Given the description of an element on the screen output the (x, y) to click on. 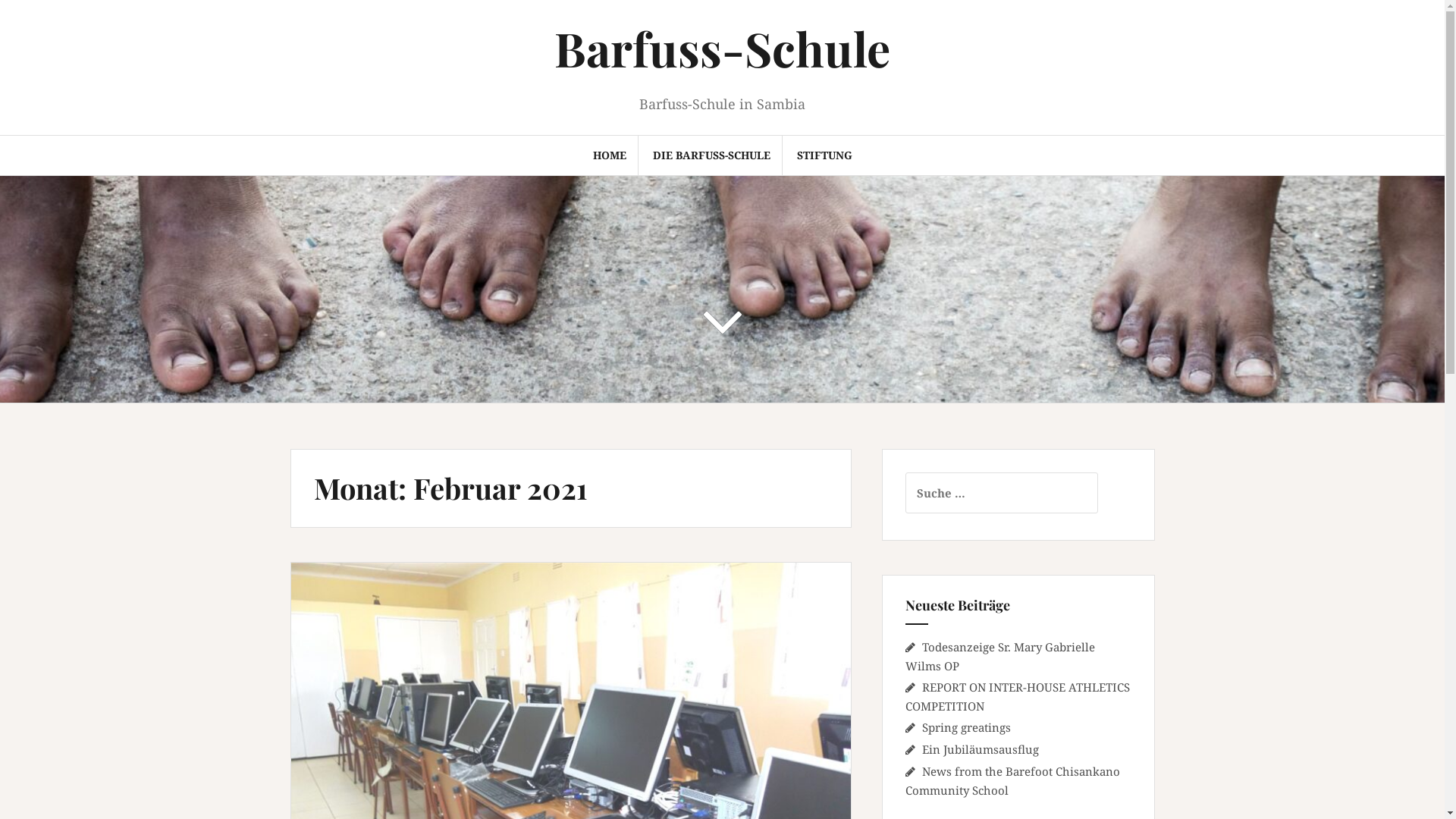
STIFTUNG Element type: text (823, 155)
DIE BARFUSS-SCHULE Element type: text (710, 155)
Suche Element type: text (28, 20)
Todesanzeige Sr. Mary Gabrielle Wilms OP Element type: text (1000, 656)
REPORT ON INTER-HOUSE ATHLETICS COMPETITION Element type: text (1017, 696)
HOME Element type: text (609, 155)
Barfuss-Schule Element type: text (722, 47)
News from the Barefoot Chisankano Community School Element type: text (1012, 780)
Spring greatings Element type: text (966, 726)
